Given the description of an element on the screen output the (x, y) to click on. 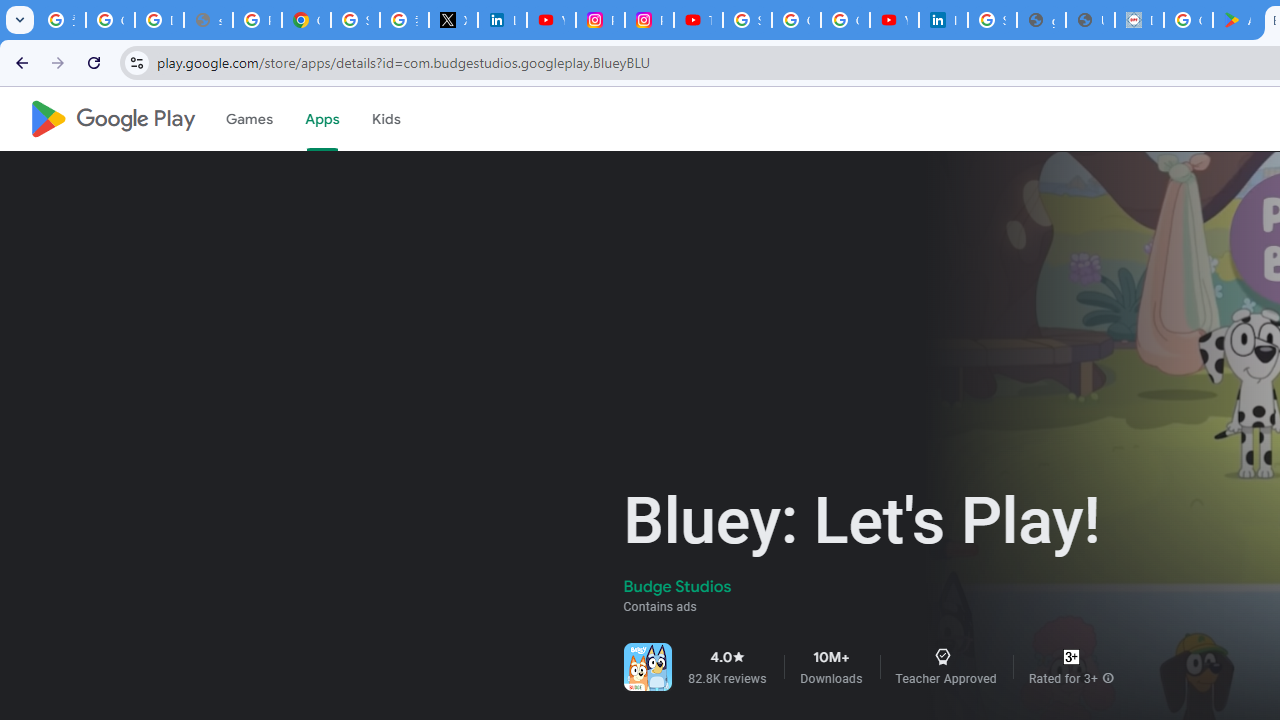
Sign in - Google Accounts (747, 20)
Kids (385, 119)
Google Play logo (111, 119)
Apps (321, 119)
Privacy Help Center - Policies Help (257, 20)
